Given the description of an element on the screen output the (x, y) to click on. 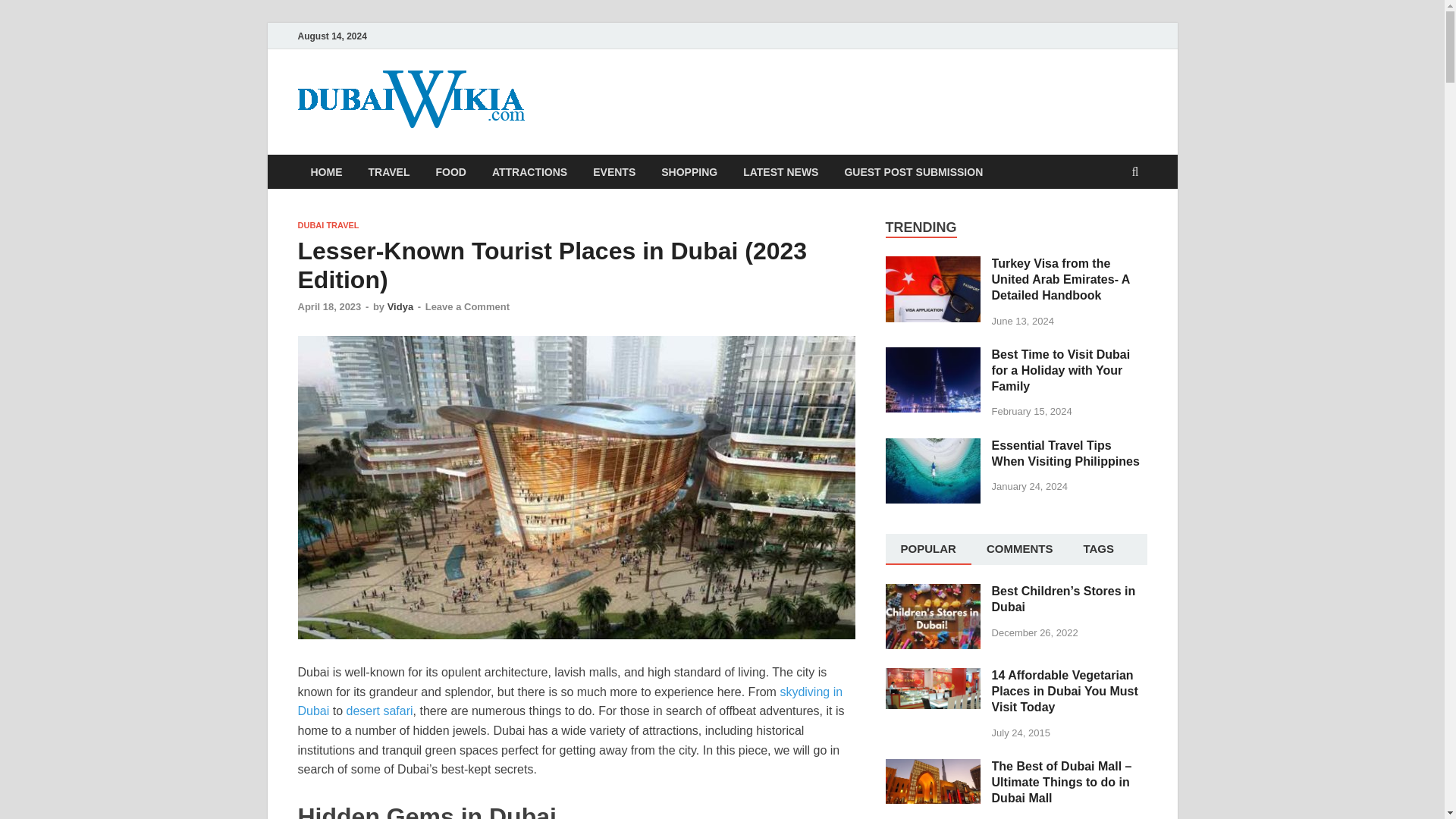
SHOPPING (688, 171)
TRAVEL (388, 171)
desert safari (379, 710)
Vidya (400, 306)
EVENTS (613, 171)
DUBAI TRAVEL (327, 225)
HOME (326, 171)
April 18, 2023 (329, 306)
GUEST POST SUBMISSION (913, 171)
Best Time to Visit Dubai for a Holiday with Your Family (932, 355)
